Given the description of an element on the screen output the (x, y) to click on. 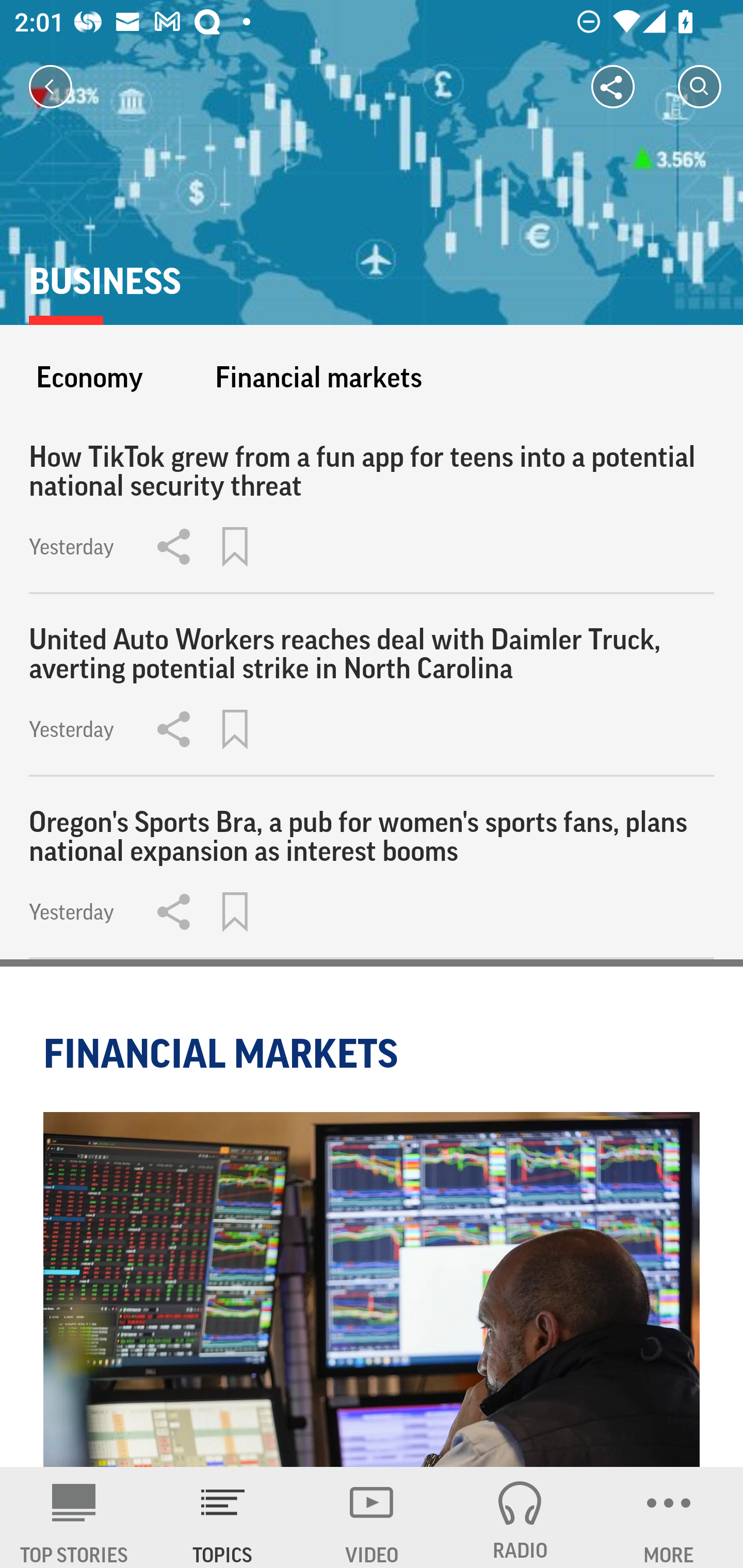
Economy (89, 376)
Financial markets (317, 376)
FINANCIAL MARKETS (223, 1053)
AP News TOP STORIES (74, 1517)
TOPICS (222, 1517)
VIDEO (371, 1517)
RADIO (519, 1517)
MORE (668, 1517)
